Given the description of an element on the screen output the (x, y) to click on. 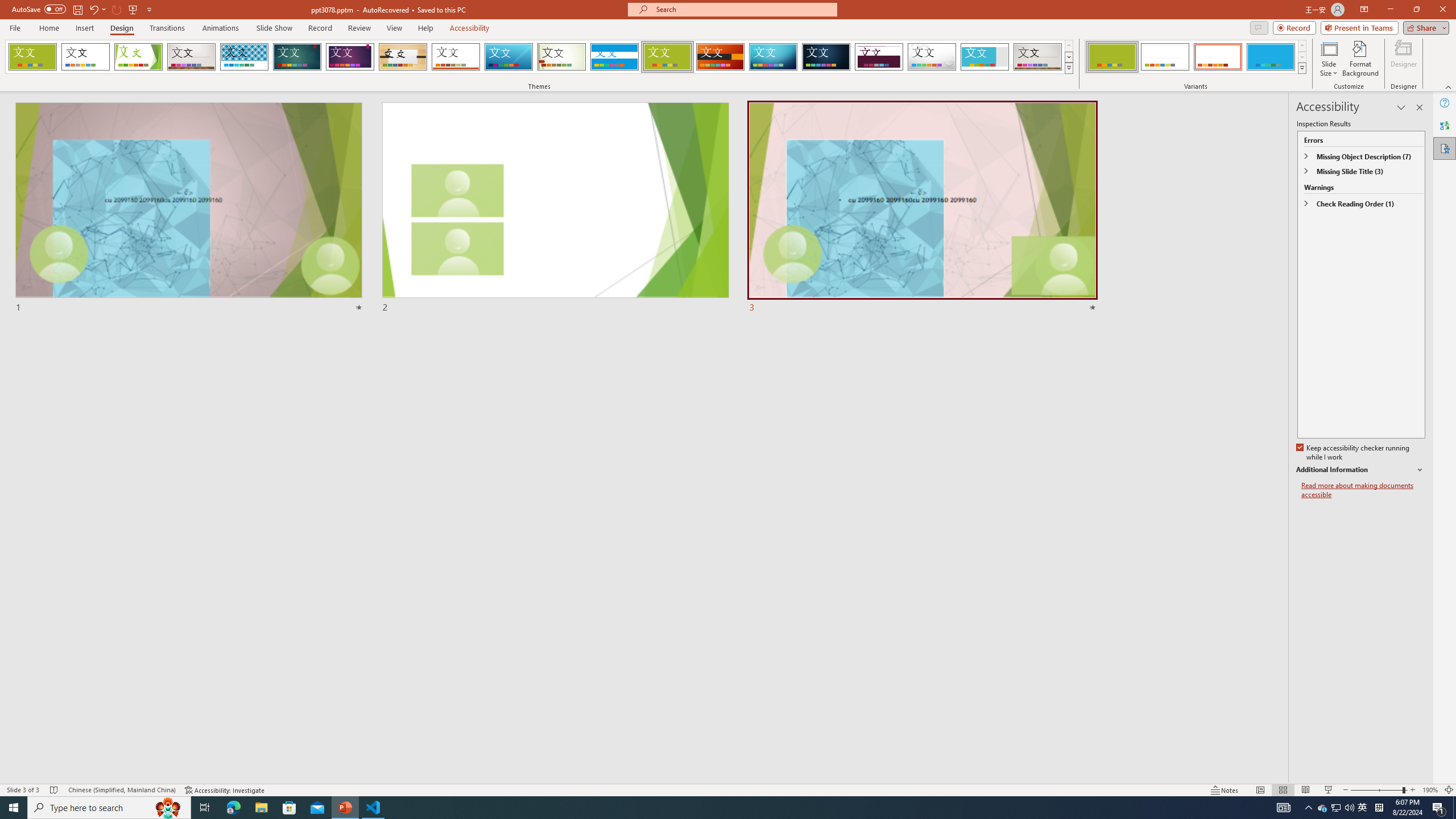
Basis (667, 56)
Additional Information (1360, 469)
Ion Boardroom (350, 56)
Format Background (1360, 58)
Basis Variant 2 (1164, 56)
Organic (403, 56)
Dividend (879, 56)
Integral (244, 56)
